Given the description of an element on the screen output the (x, y) to click on. 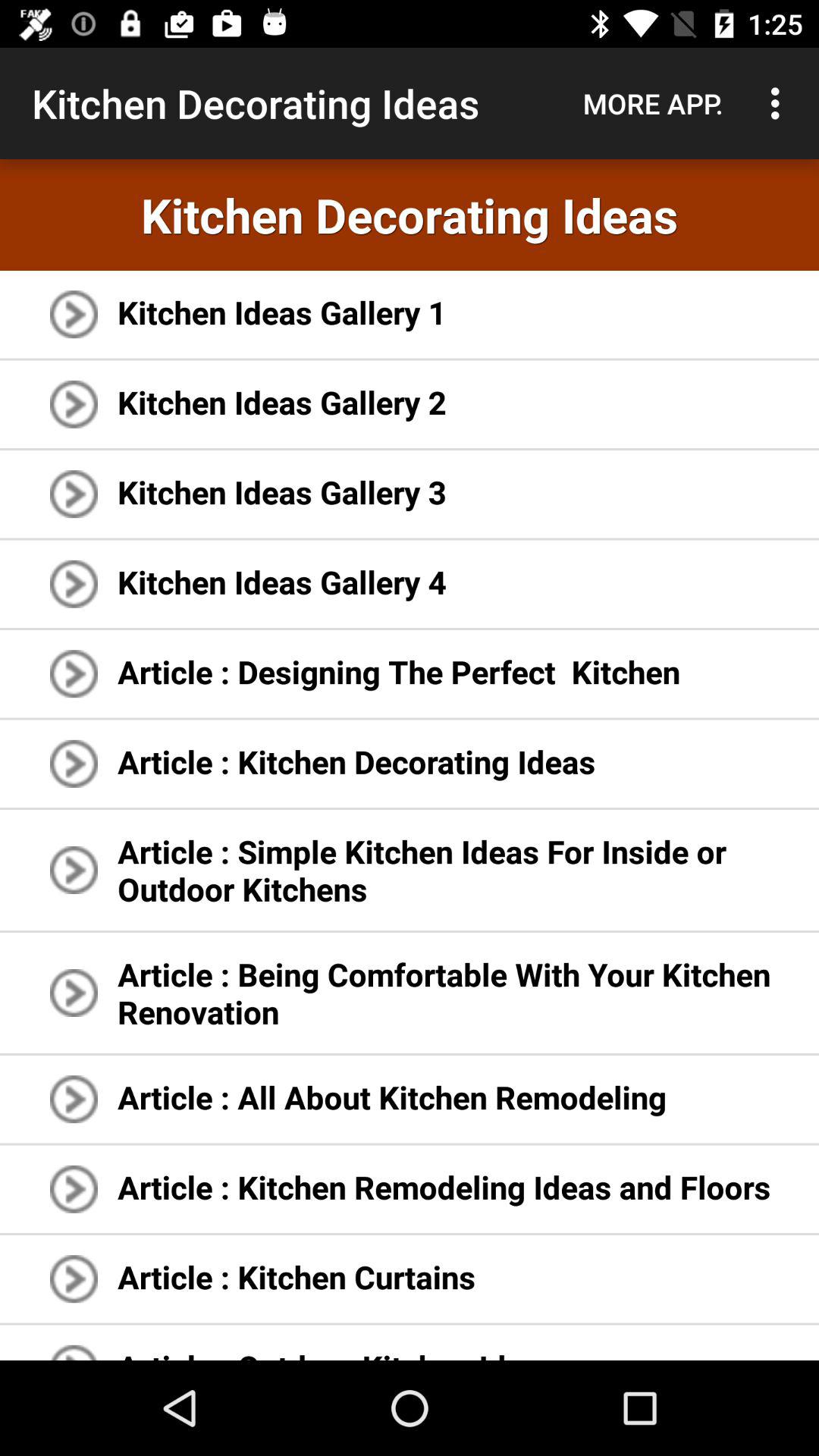
press the item above the kitchen decorating ideas item (779, 103)
